Given the description of an element on the screen output the (x, y) to click on. 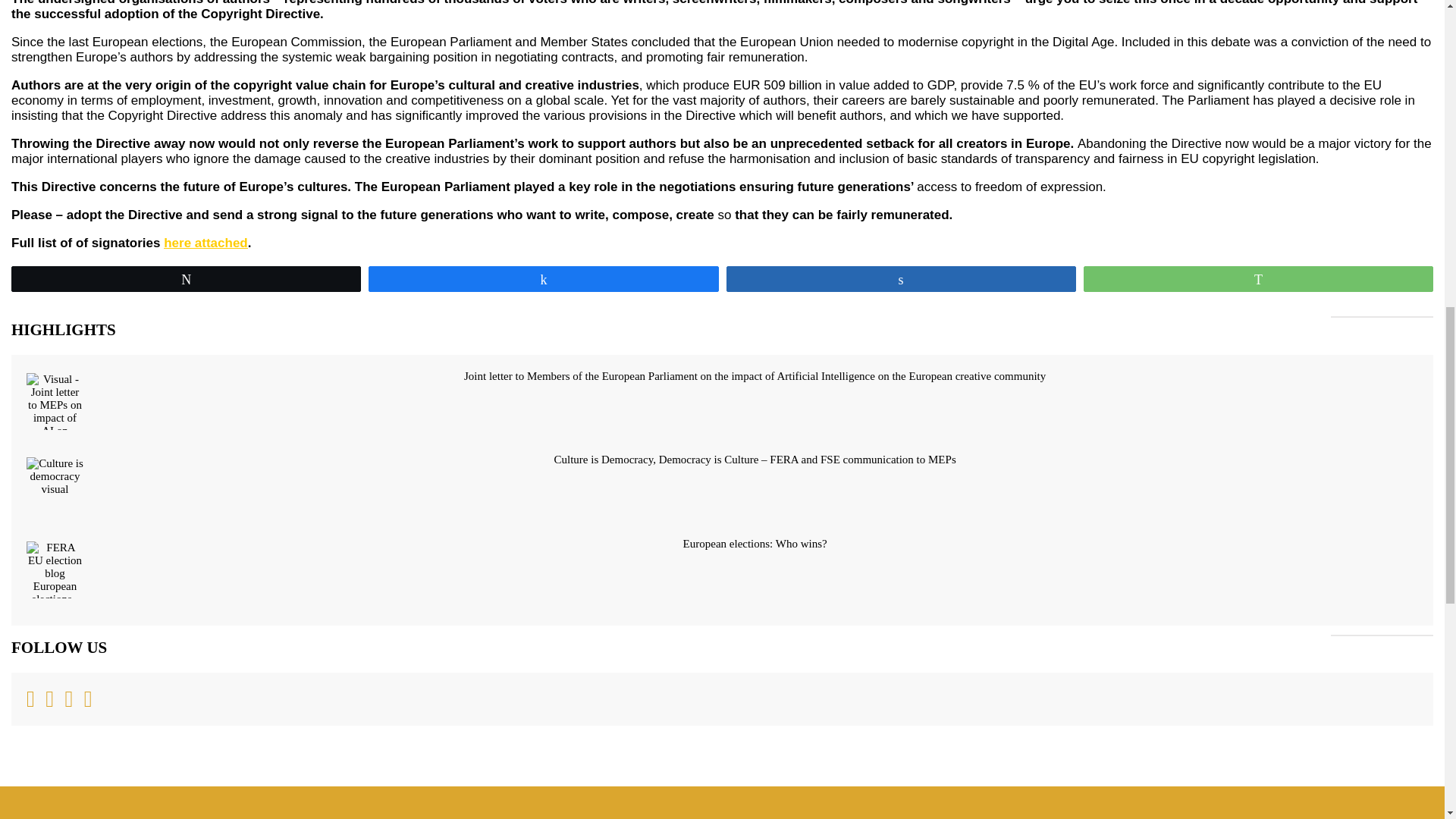
here attached (205, 242)
